Given the description of an element on the screen output the (x, y) to click on. 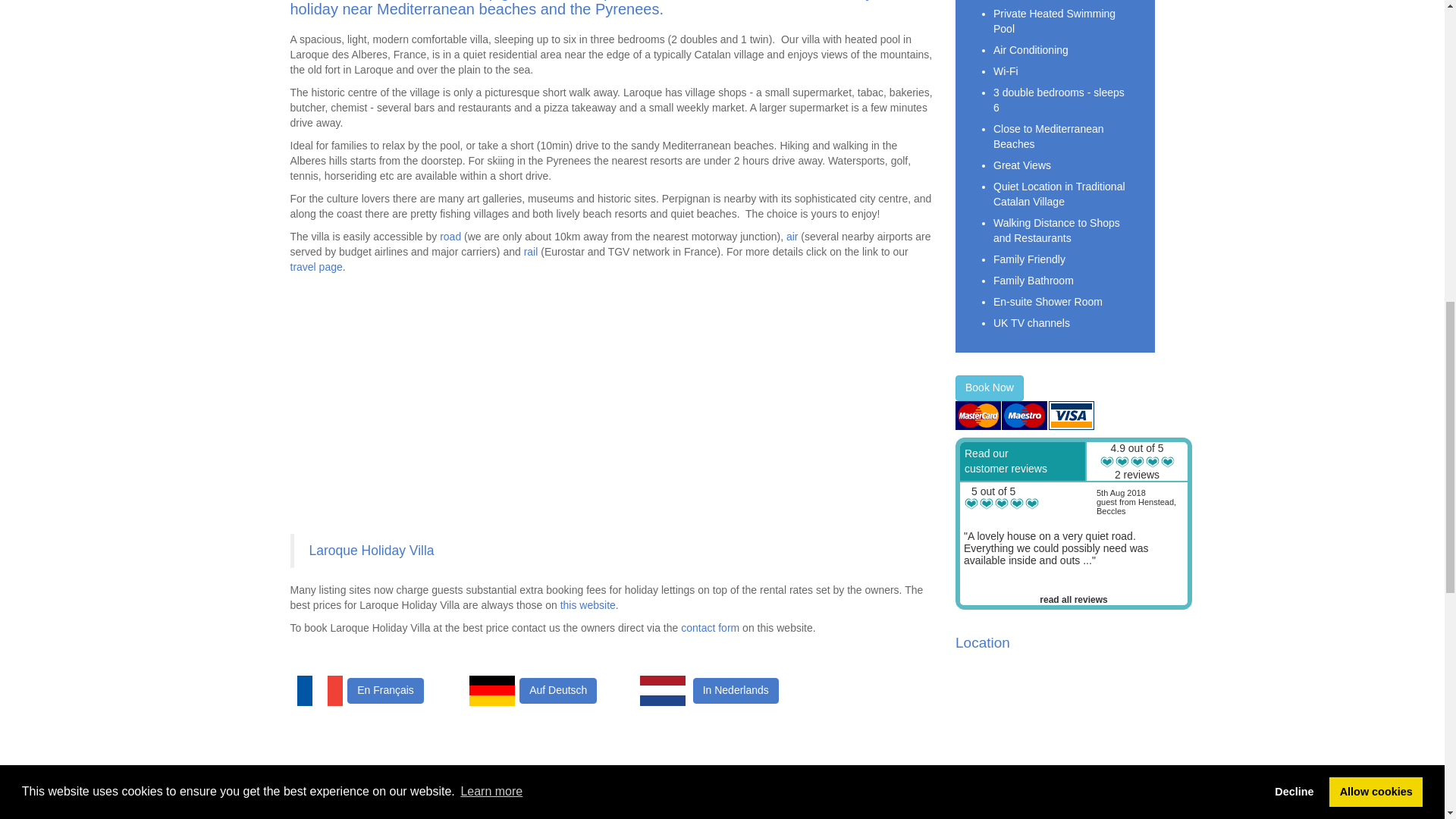
road (450, 236)
map (1054, 739)
air (791, 236)
rail (531, 251)
